Given the description of an element on the screen output the (x, y) to click on. 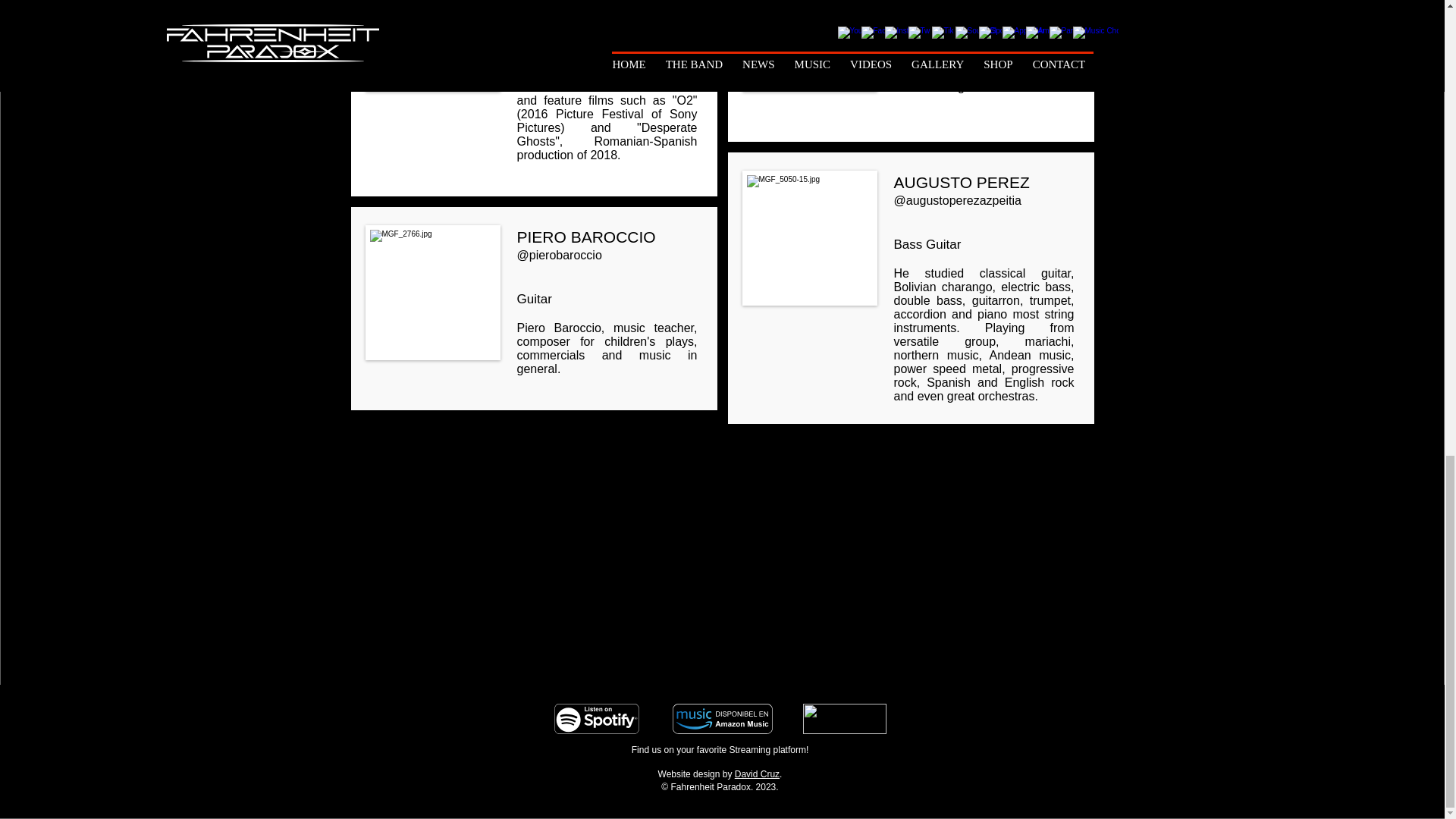
Get it on iTunes (843, 718)
David Cruz (756, 774)
